Given the description of an element on the screen output the (x, y) to click on. 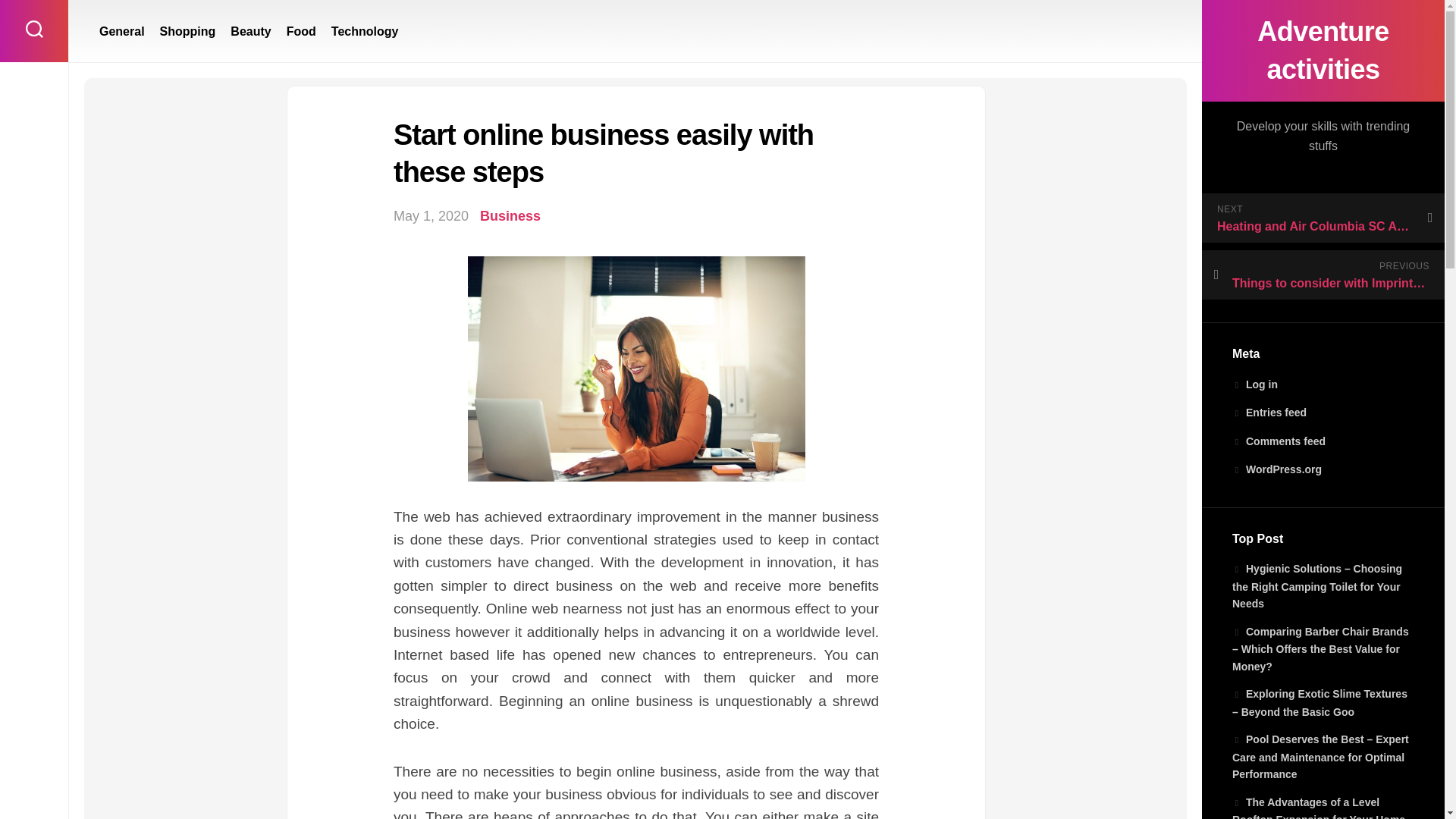
Entries feed (1268, 412)
Comments feed (1277, 440)
WordPress.org (1276, 469)
The Advantages of a Level Rooftop Expansion for Your Home (1318, 807)
Log in (1254, 384)
Adventure activities (1322, 50)
